Given the description of an element on the screen output the (x, y) to click on. 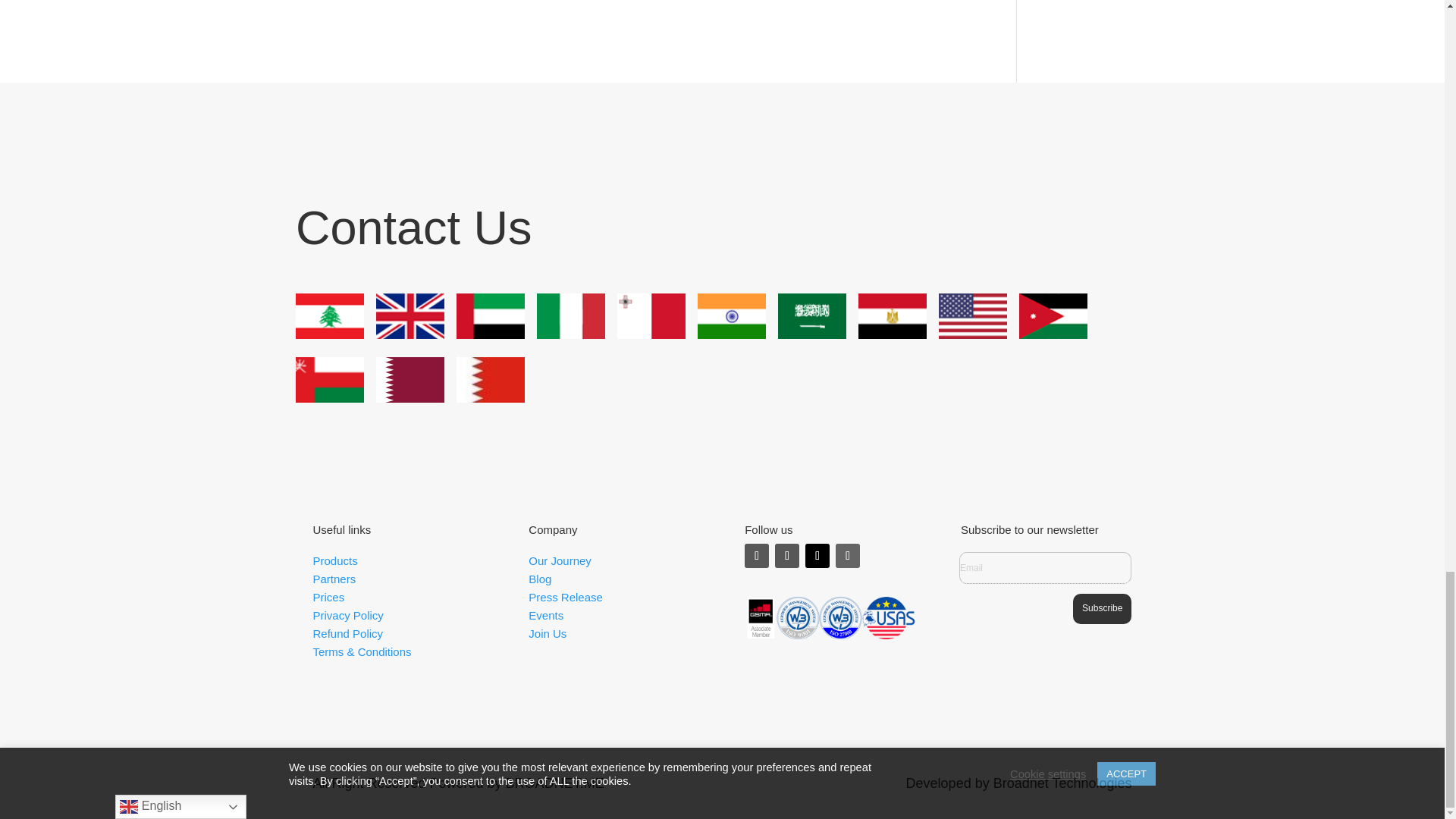
Follow on Facebook (786, 555)
Follow on Instagram (756, 555)
Follow on X (817, 555)
Follow on LinkedIn (847, 555)
Subscribe (1102, 608)
